Given the description of an element on the screen output the (x, y) to click on. 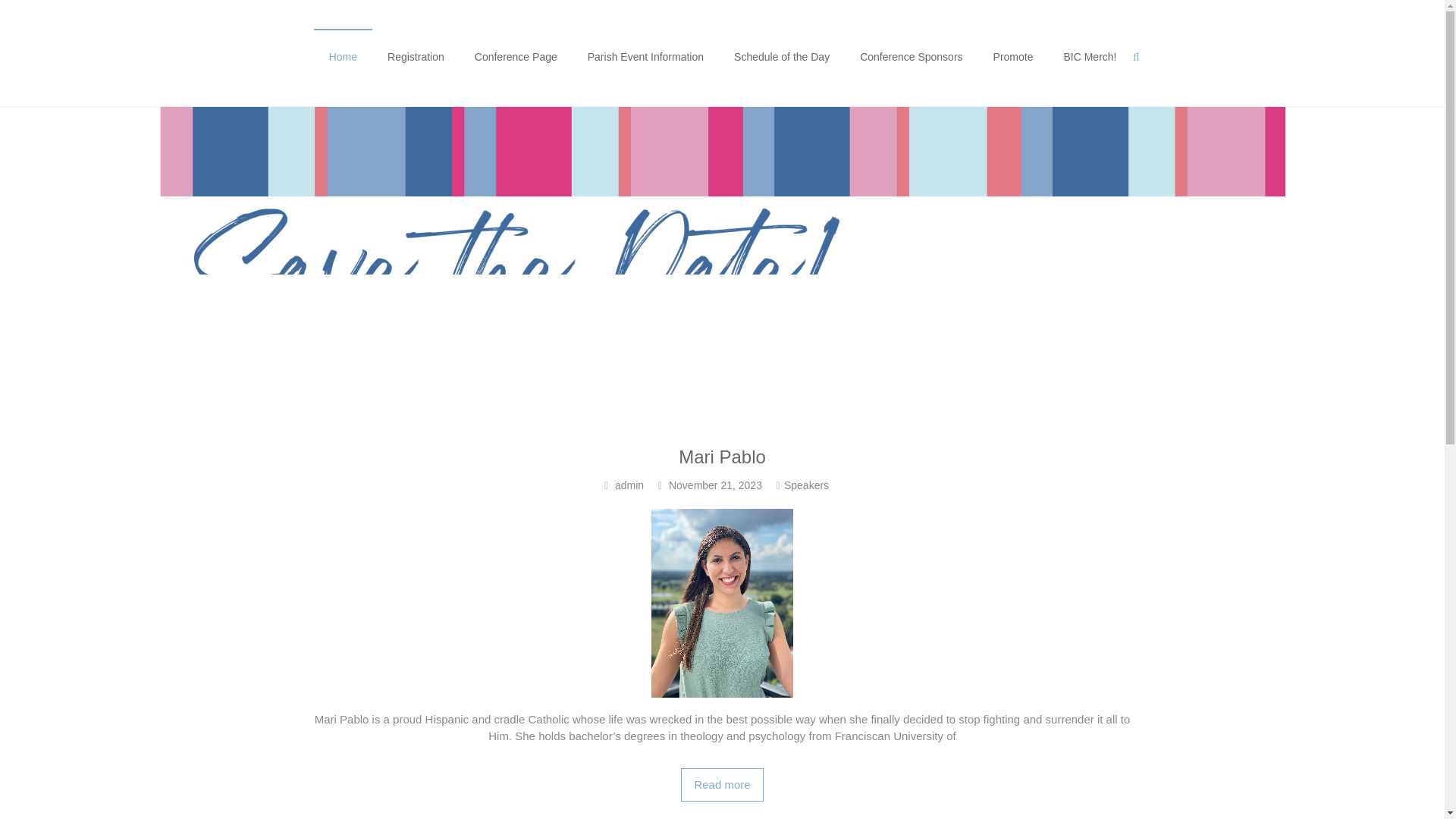
BIC Merch! (1089, 56)
Schedule of the Day (781, 56)
admin (628, 485)
Mari Pablo (721, 785)
Mari Pablo (721, 457)
Speakers (806, 485)
Parish Event Information (645, 56)
November 21, 2023 (714, 485)
Mari Pablo (721, 516)
Conference Sponsors (911, 56)
